Given the description of an element on the screen output the (x, y) to click on. 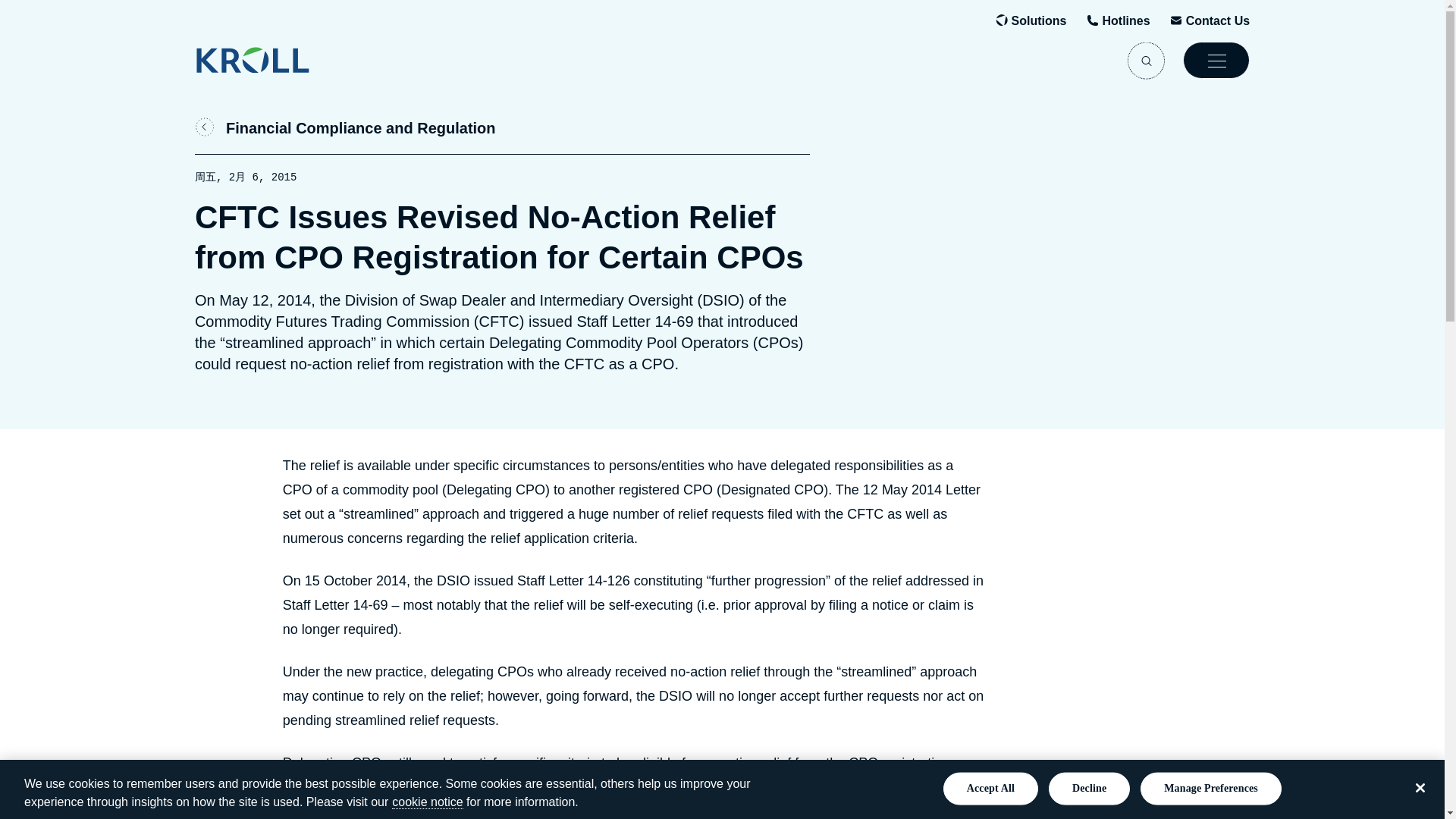
Search-Icon (1145, 59)
Contact Us (1217, 21)
Our Capabilities (1039, 21)
search (1145, 59)
Phone (1126, 21)
Hotlines (1126, 21)
Kroll-Logo (326, 59)
Burger-Icon (1215, 59)
Solutions (1039, 21)
dropdown (1215, 59)
Send Message (1217, 21)
